Given the description of an element on the screen output the (x, y) to click on. 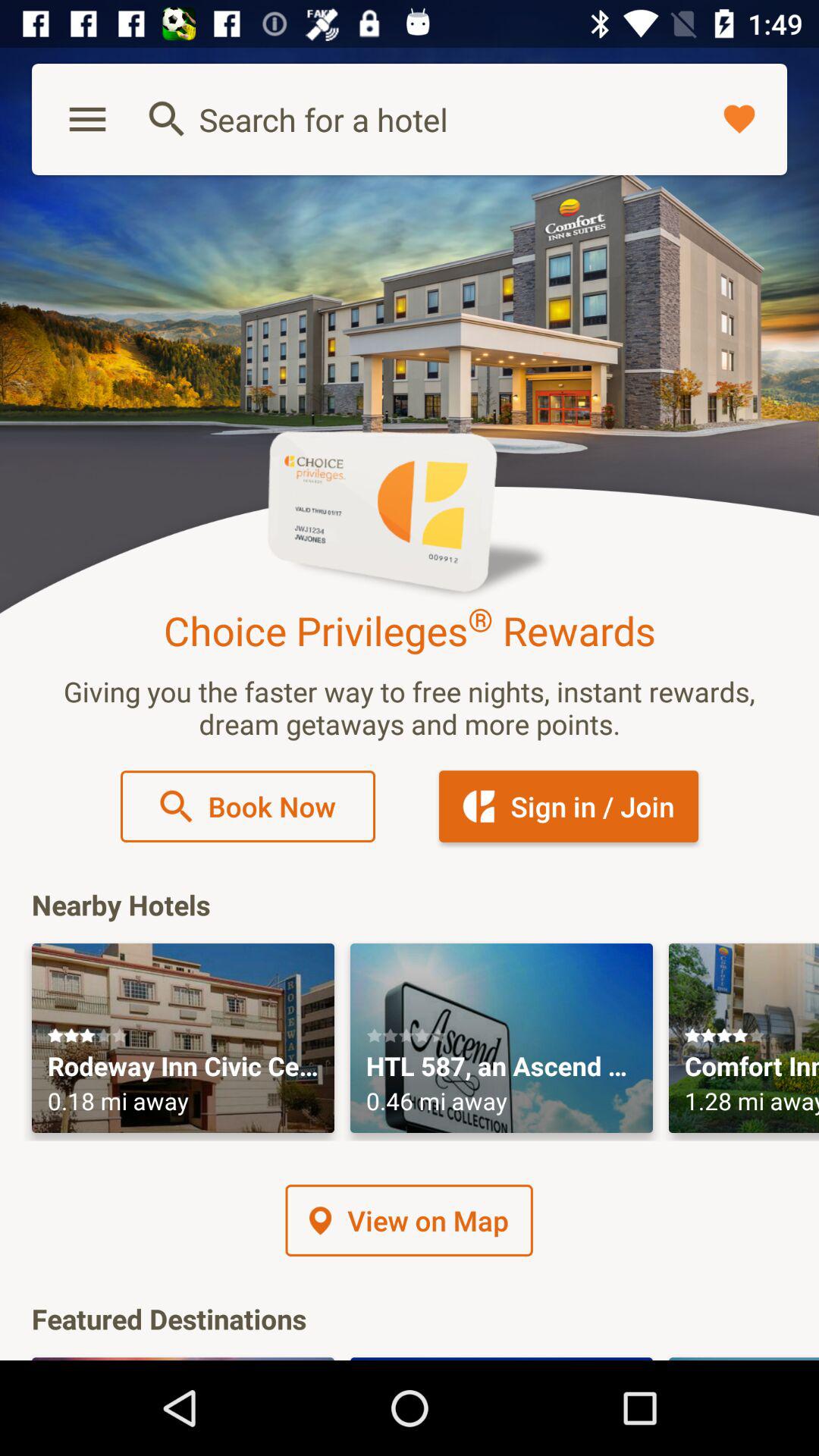
second nearby hotel (501, 1037)
